Given the description of an element on the screen output the (x, y) to click on. 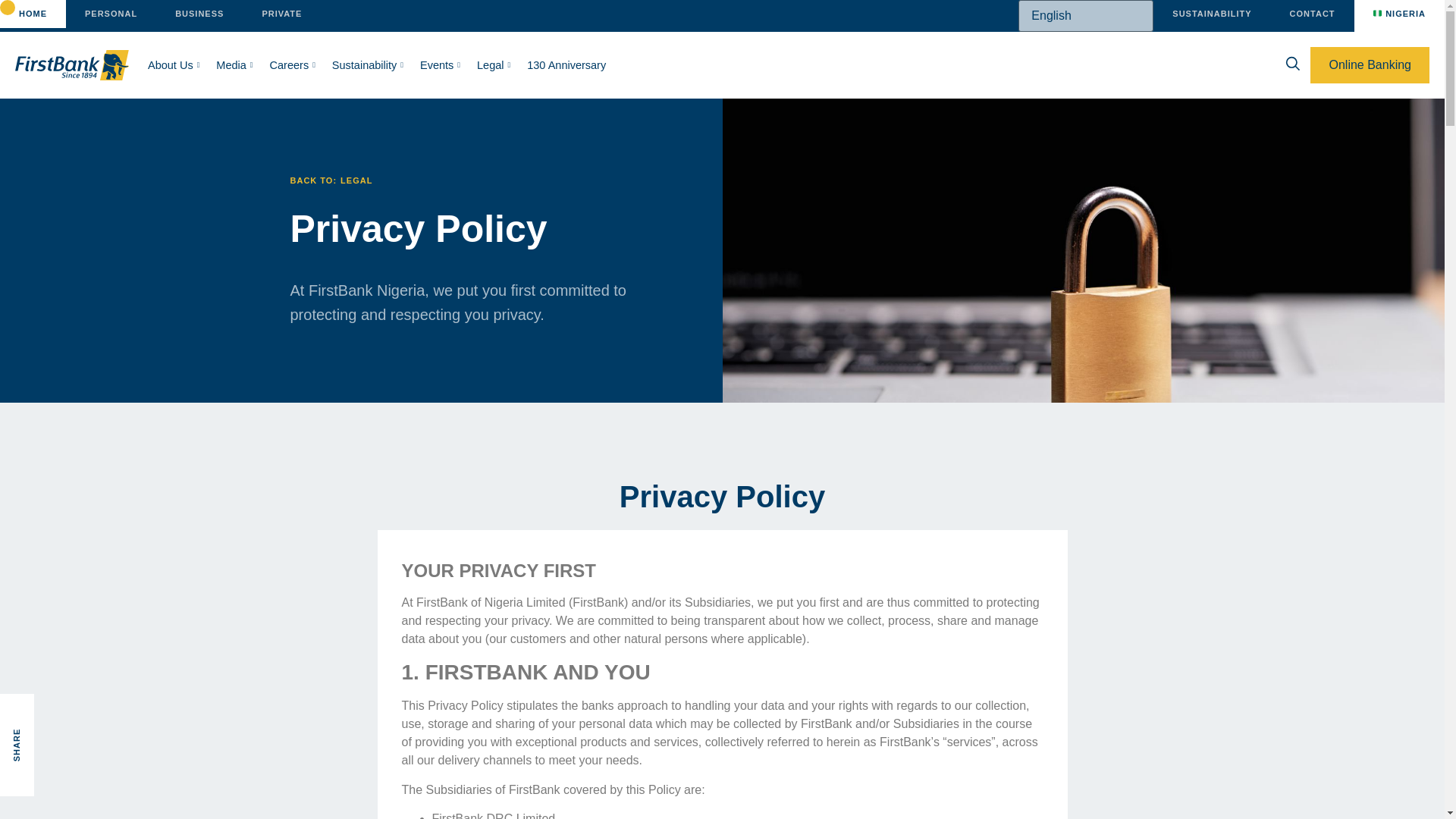
PRIVATE (281, 13)
Careers (292, 64)
PERSONAL (110, 13)
SUSTAINABILITY (1211, 13)
Sustainability (367, 64)
BUSINESS (199, 13)
CONTACT (1312, 13)
Media (233, 64)
About Us (173, 64)
HOME (32, 13)
